Given the description of an element on the screen output the (x, y) to click on. 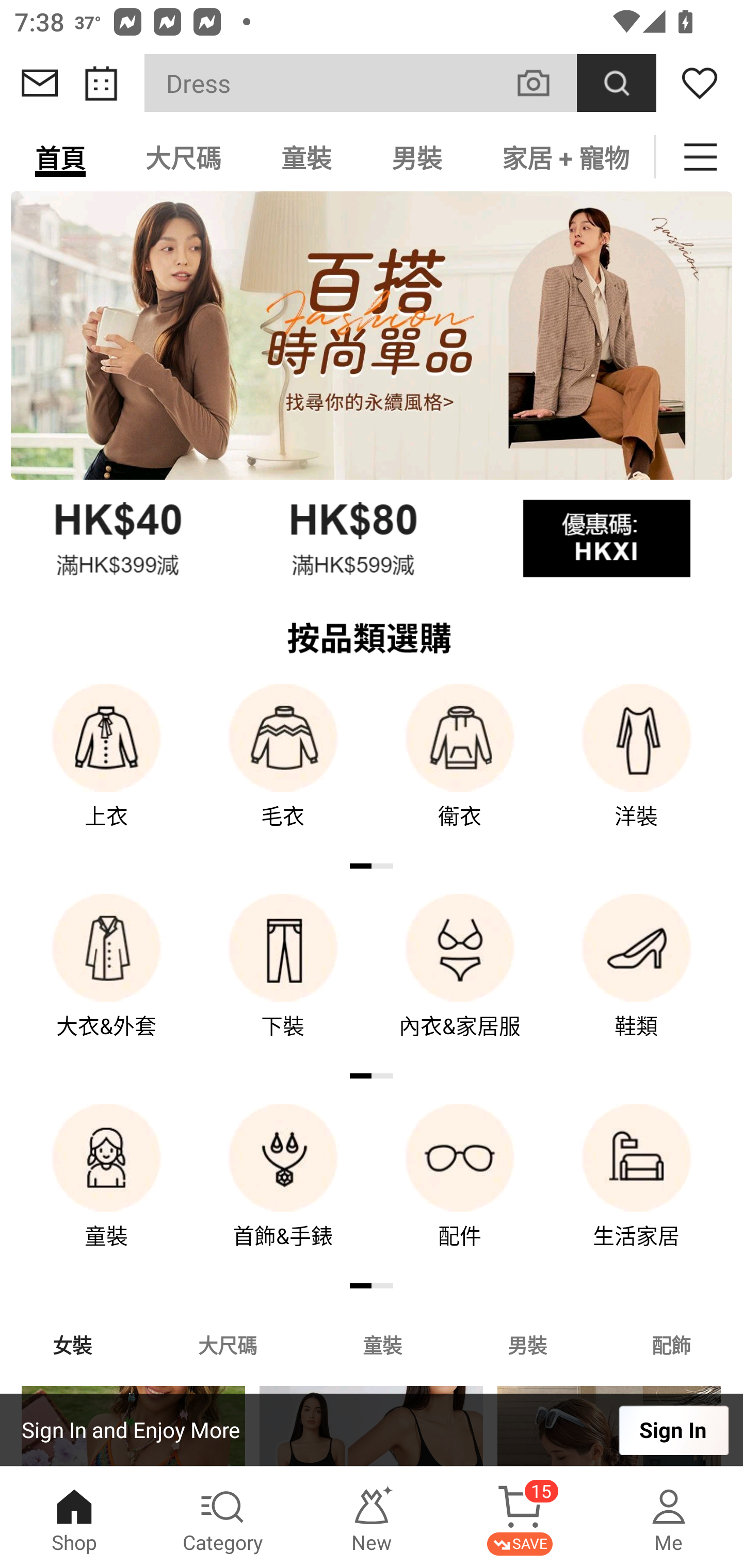
Wishlist (699, 82)
VISUAL SEARCH (543, 82)
首頁 (60, 156)
大尺碼 (183, 156)
童裝 (306, 156)
男裝 (416, 156)
家居 + 寵物 (563, 156)
上衣 (105, 769)
毛衣 (282, 769)
衛衣 (459, 769)
洋裝 (636, 769)
大衣&外套 (105, 979)
下裝 (282, 979)
內衣&家居服 (459, 979)
鞋類 (636, 979)
童裝 (105, 1189)
首飾&手錶 (282, 1189)
配件 (459, 1189)
生活家居 (636, 1189)
女裝 (72, 1344)
大尺碼 (226, 1344)
童裝 (381, 1344)
男裝 (527, 1344)
配飾 (671, 1344)
Sign In and Enjoy More Sign In (371, 1429)
Category (222, 1517)
New (371, 1517)
Cart 15 SAVE (519, 1517)
Me (668, 1517)
